Given the description of an element on the screen output the (x, y) to click on. 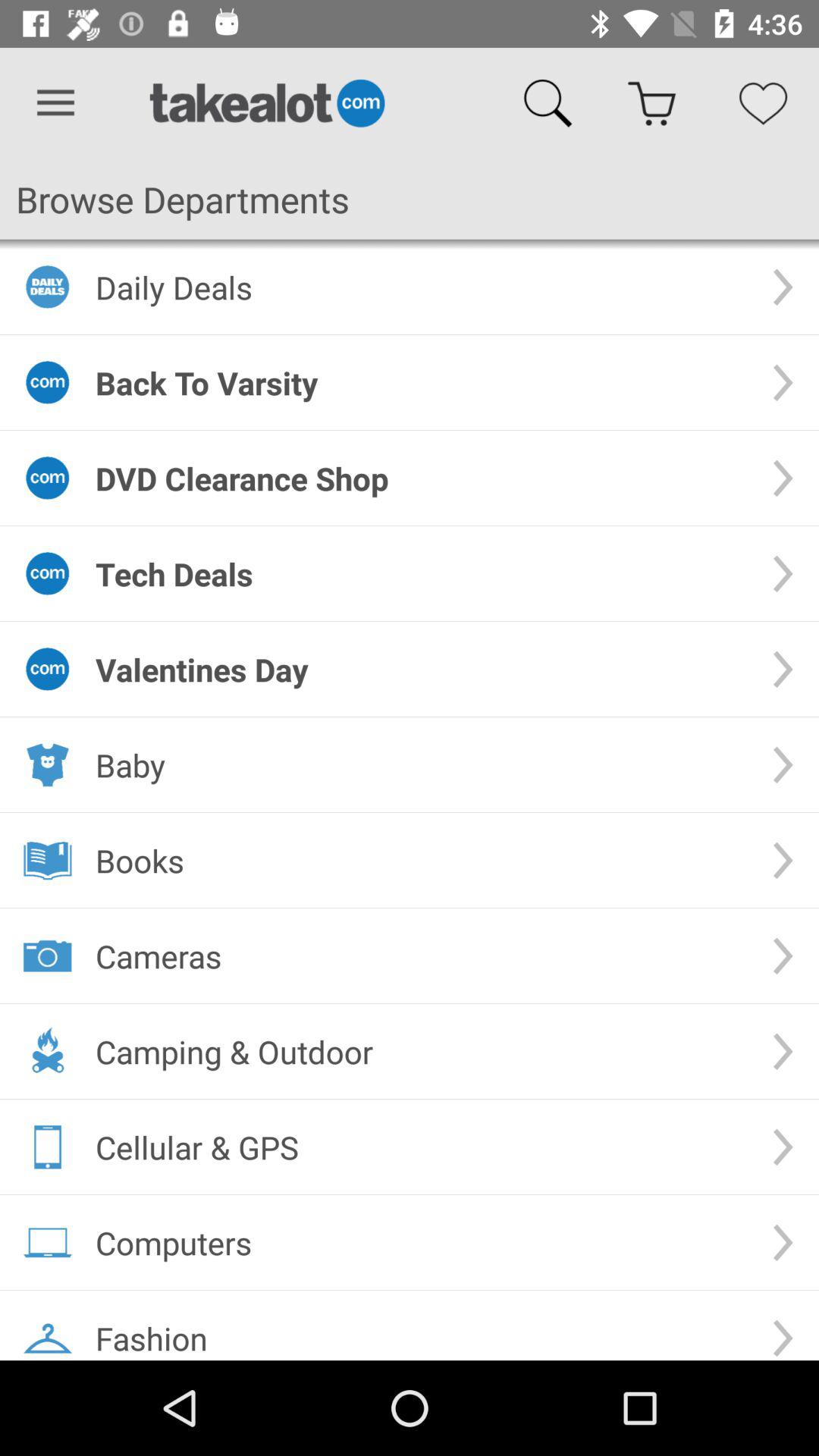
jump to the cellular & gps icon (421, 1146)
